Given the description of an element on the screen output the (x, y) to click on. 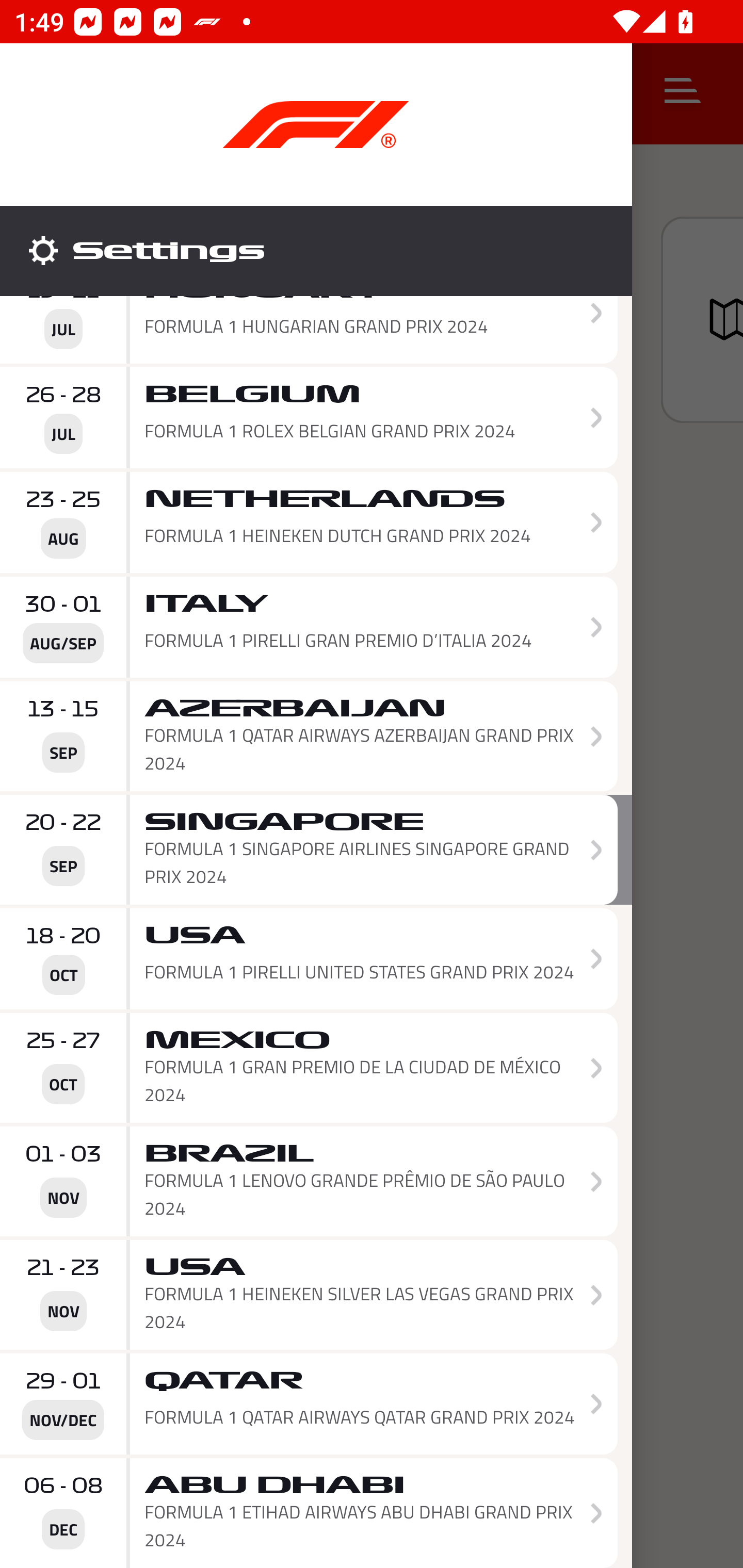
Settings (316, 250)
